Given the description of an element on the screen output the (x, y) to click on. 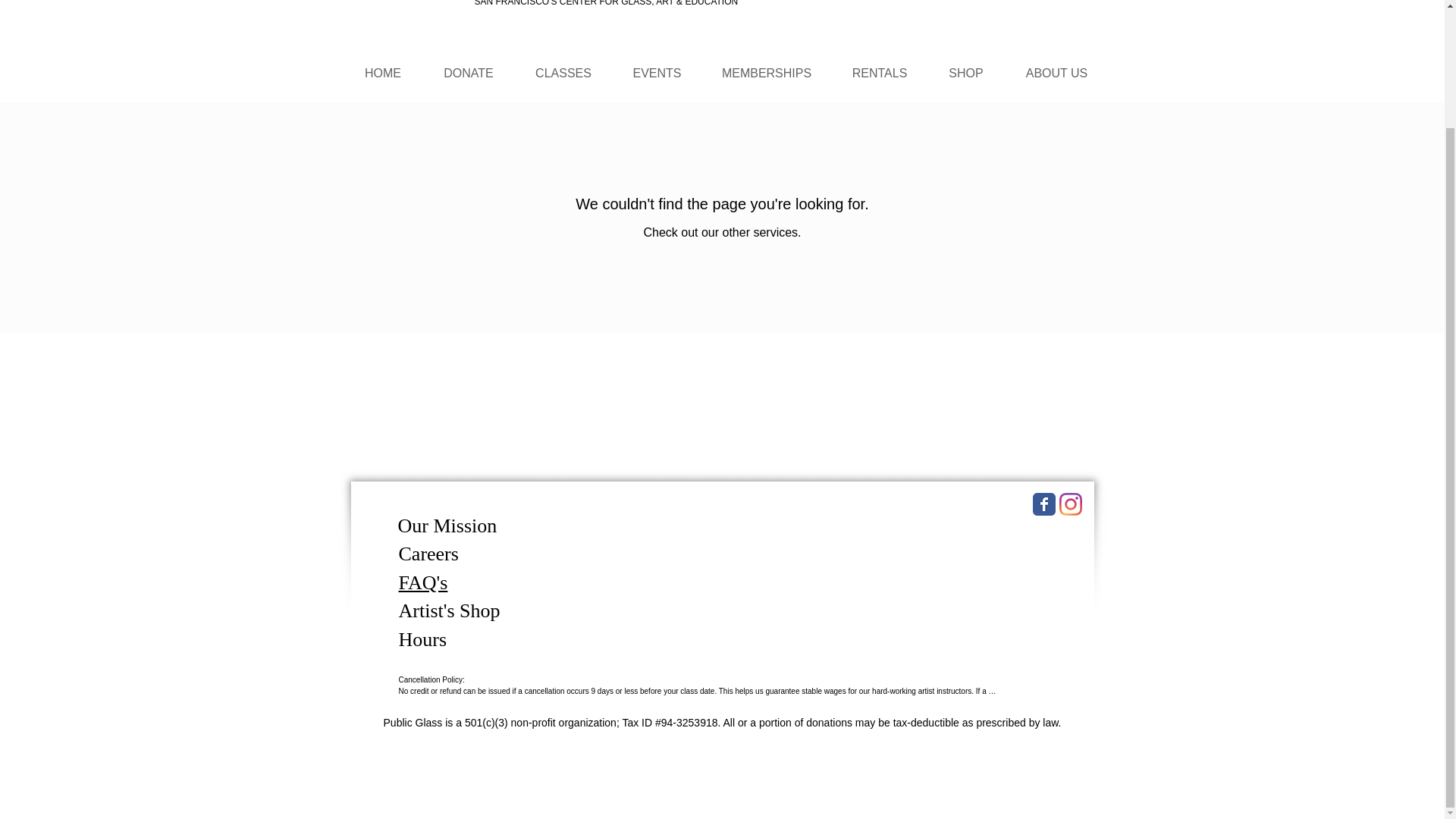
HOME (382, 72)
EVENTS (656, 72)
RENTALS (879, 72)
DONATE (469, 72)
SHOP (966, 72)
CLASSES (562, 72)
MEMBERSHIPS (766, 72)
